Given the description of an element on the screen output the (x, y) to click on. 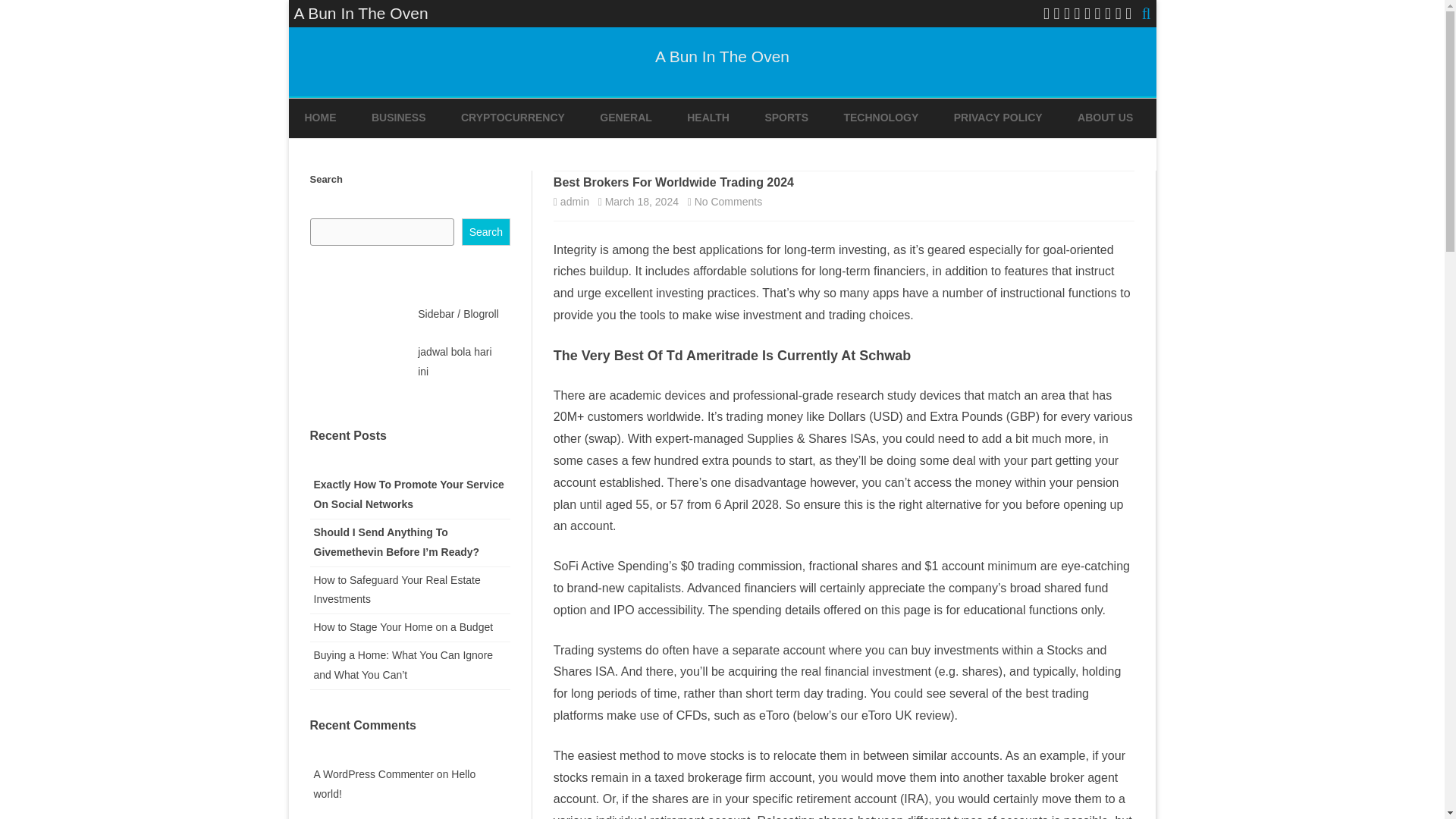
SPORTS (786, 118)
A Bun In The Oven (722, 56)
PRIVACY POLICY (997, 118)
CRYPTOCURRENCY (512, 118)
HEALTH (708, 118)
GENERAL (624, 118)
TECHNOLOGY (880, 118)
BUSINESS (398, 118)
ABOUT US (1104, 118)
